Given the description of an element on the screen output the (x, y) to click on. 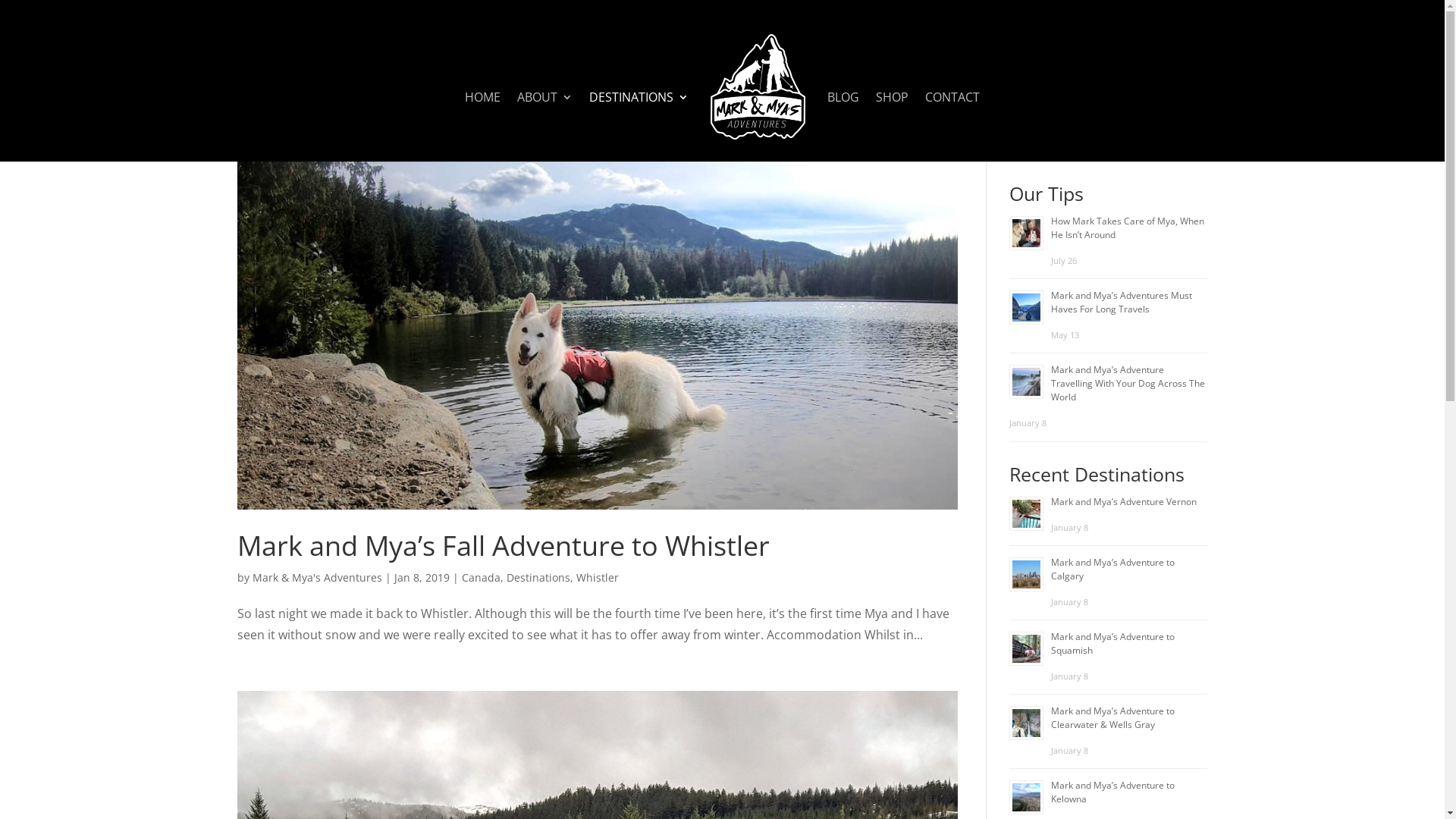
Whistler Element type: text (597, 577)
SHOP Element type: text (891, 126)
DESTINATIONS Element type: text (638, 126)
ABOUT Element type: text (544, 126)
CONTACT Element type: text (952, 126)
Canada Element type: text (480, 577)
Search Element type: text (1180, 146)
HOME Element type: text (482, 126)
BLOG Element type: text (843, 126)
Mark & Mya's Adventures Element type: text (316, 577)
Destinations Element type: text (538, 577)
